Given the description of an element on the screen output the (x, y) to click on. 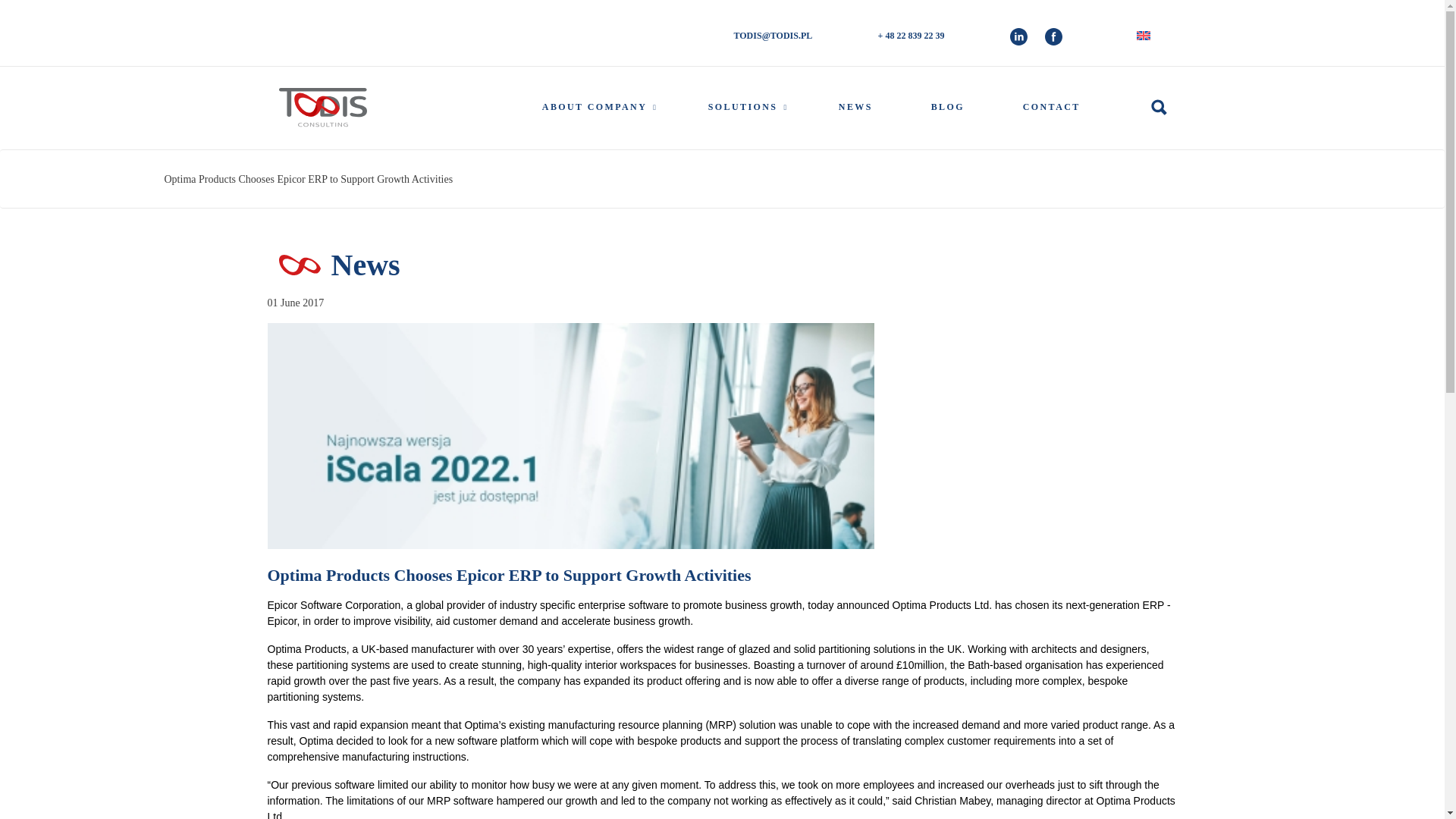
News (855, 106)
BLOG (947, 106)
NEWS (855, 106)
SOLUTIONS (742, 106)
ABOUT COMPANY (593, 106)
Solutions (742, 106)
About company (593, 106)
todis.pl (322, 107)
CONTACT (1051, 106)
